Given the description of an element on the screen output the (x, y) to click on. 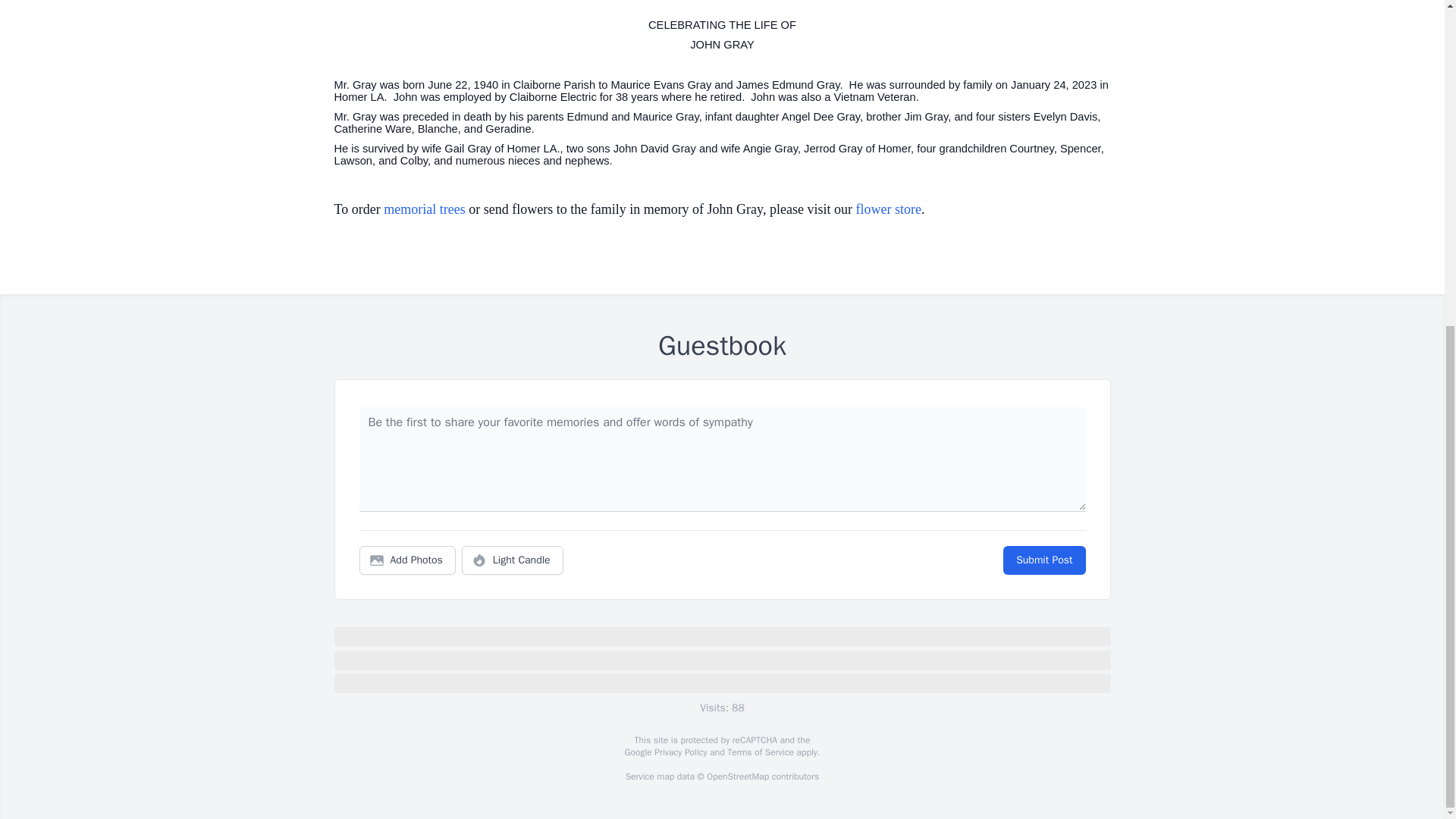
OpenStreetMap (737, 776)
flower store (888, 209)
Add Photos (407, 560)
memorial trees (424, 209)
Privacy Policy (679, 752)
Terms of Service (759, 752)
Light Candle (512, 560)
Submit Post (1043, 560)
